Given the description of an element on the screen output the (x, y) to click on. 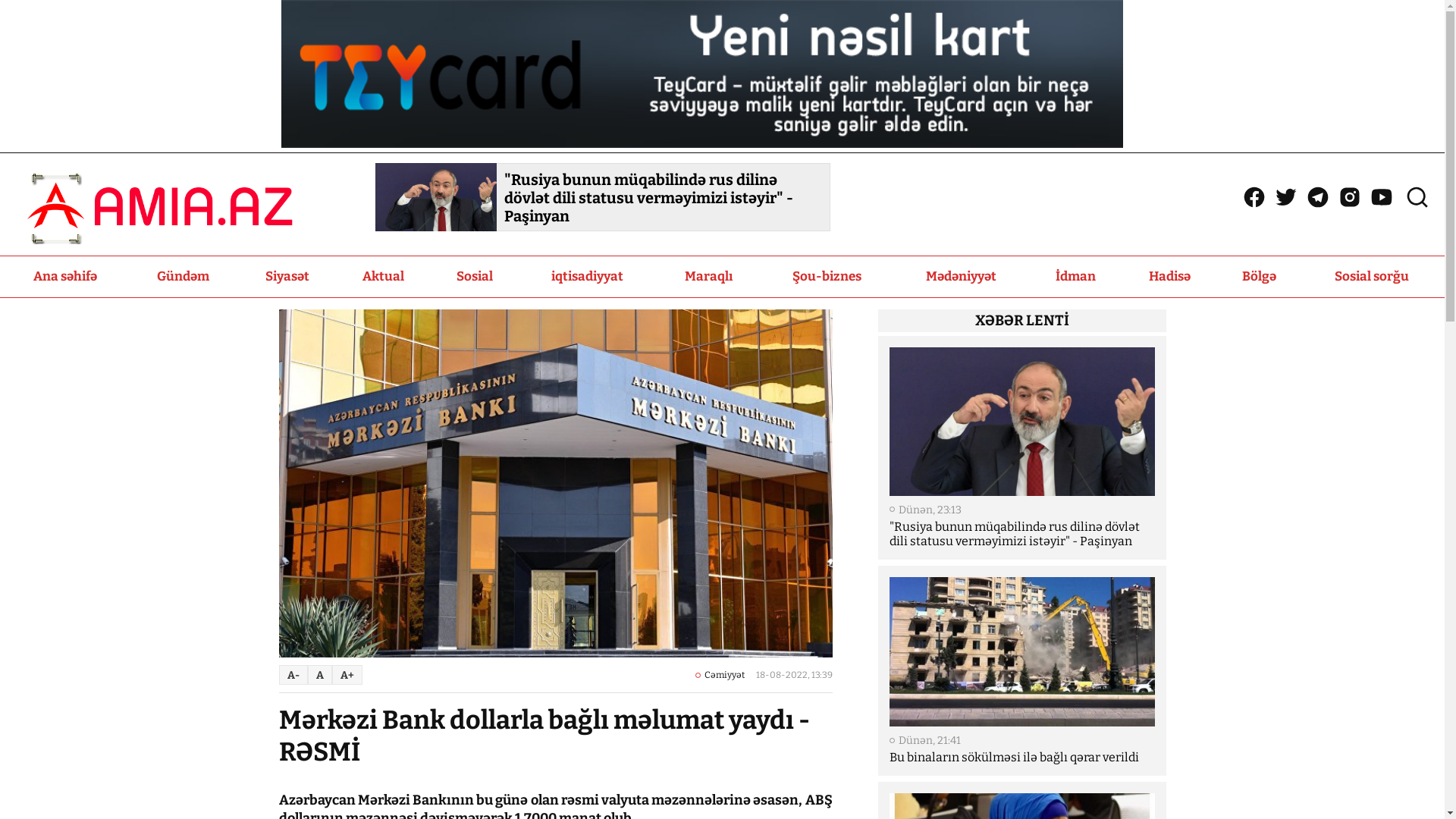
Aktual Element type: text (383, 276)
iqtisadiyyat Element type: text (587, 276)
kargo Element type: hover (702, 144)
Sosial Element type: text (474, 276)
kargo Element type: hover (701, 73)
